Given the description of an element on the screen output the (x, y) to click on. 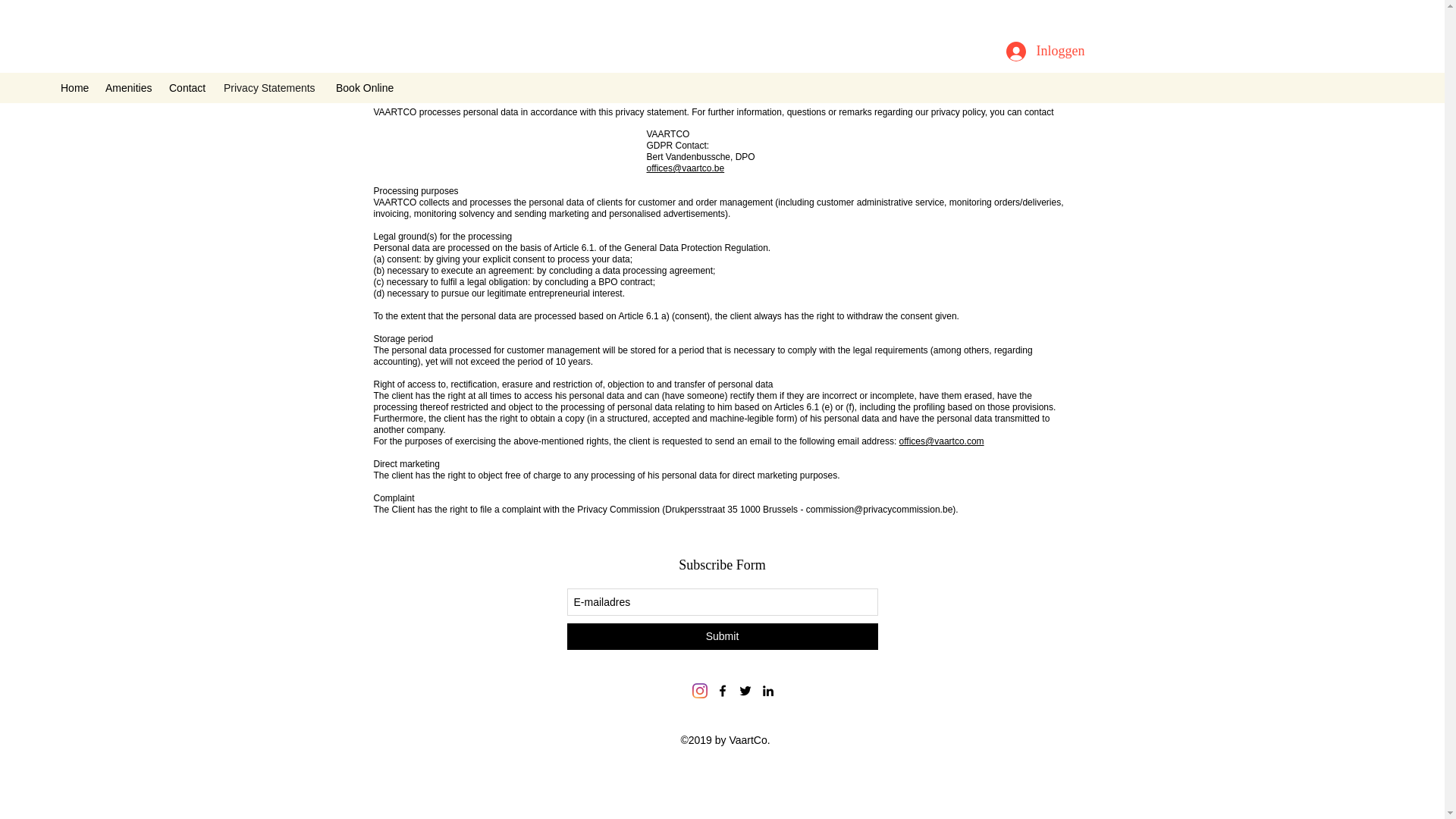
Contact (188, 87)
Inloggen (1040, 51)
Home (74, 87)
Privacy Statements (272, 87)
Amenities (129, 87)
Submit (722, 636)
Book Online (366, 87)
